Given the description of an element on the screen output the (x, y) to click on. 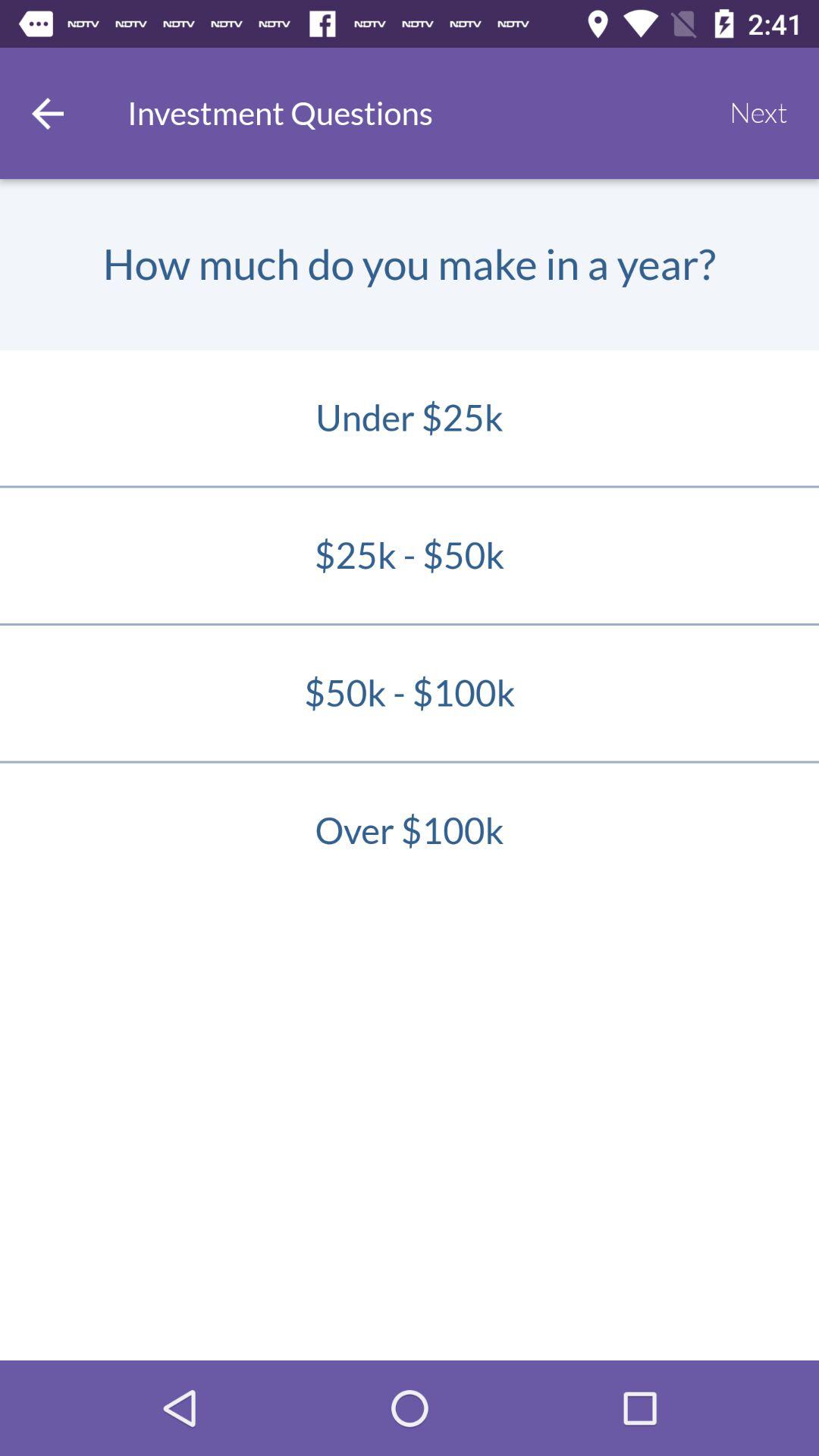
go back (47, 113)
